Given the description of an element on the screen output the (x, y) to click on. 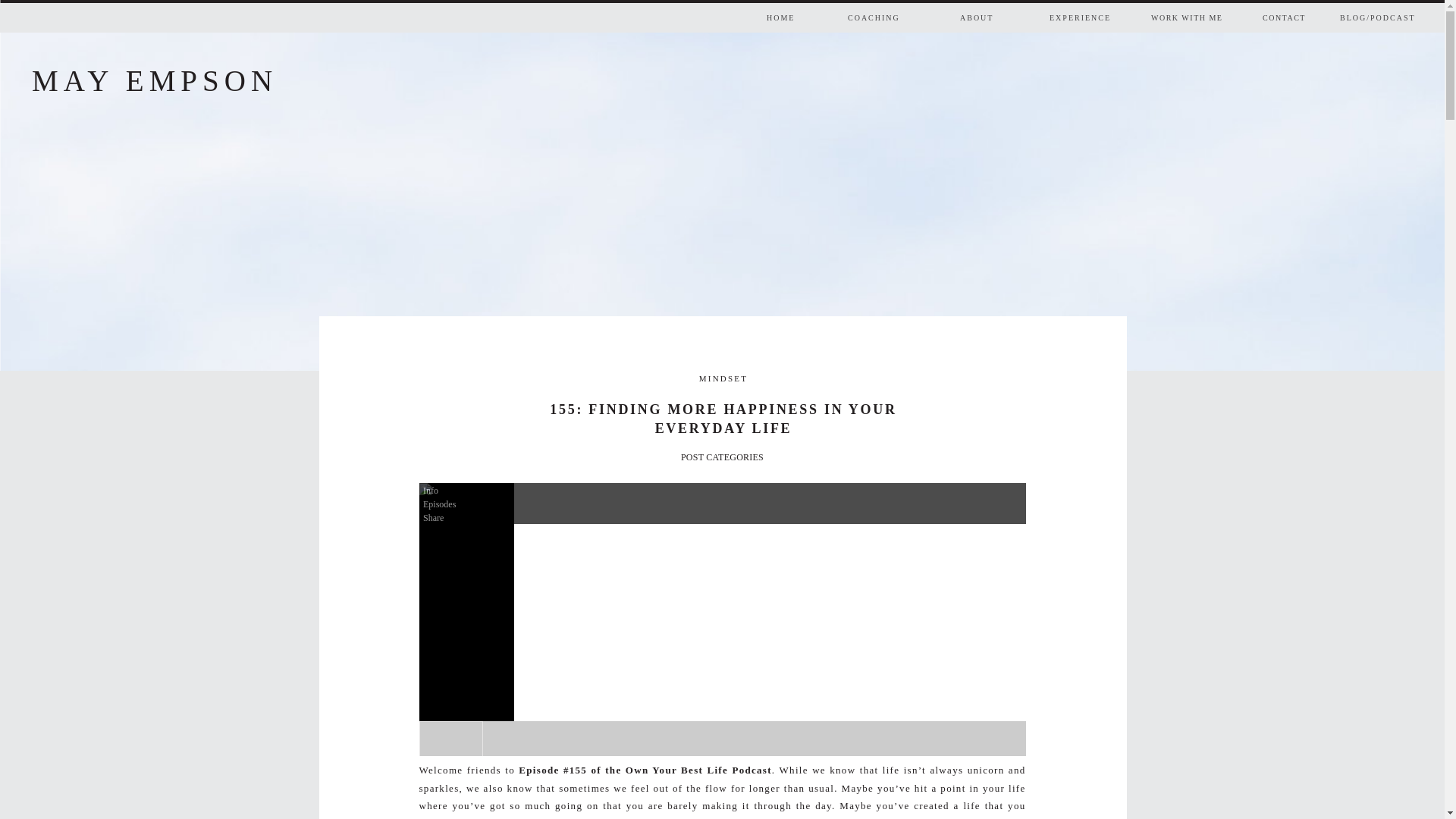
COACHING (888, 19)
WORK WITH ME (1194, 19)
CONTACT (1305, 19)
EXPERIENCE (1092, 19)
HOME (810, 19)
MINDSET (723, 378)
MAY EMPSON (189, 78)
ABOUT (1002, 19)
